Given the description of an element on the screen output the (x, y) to click on. 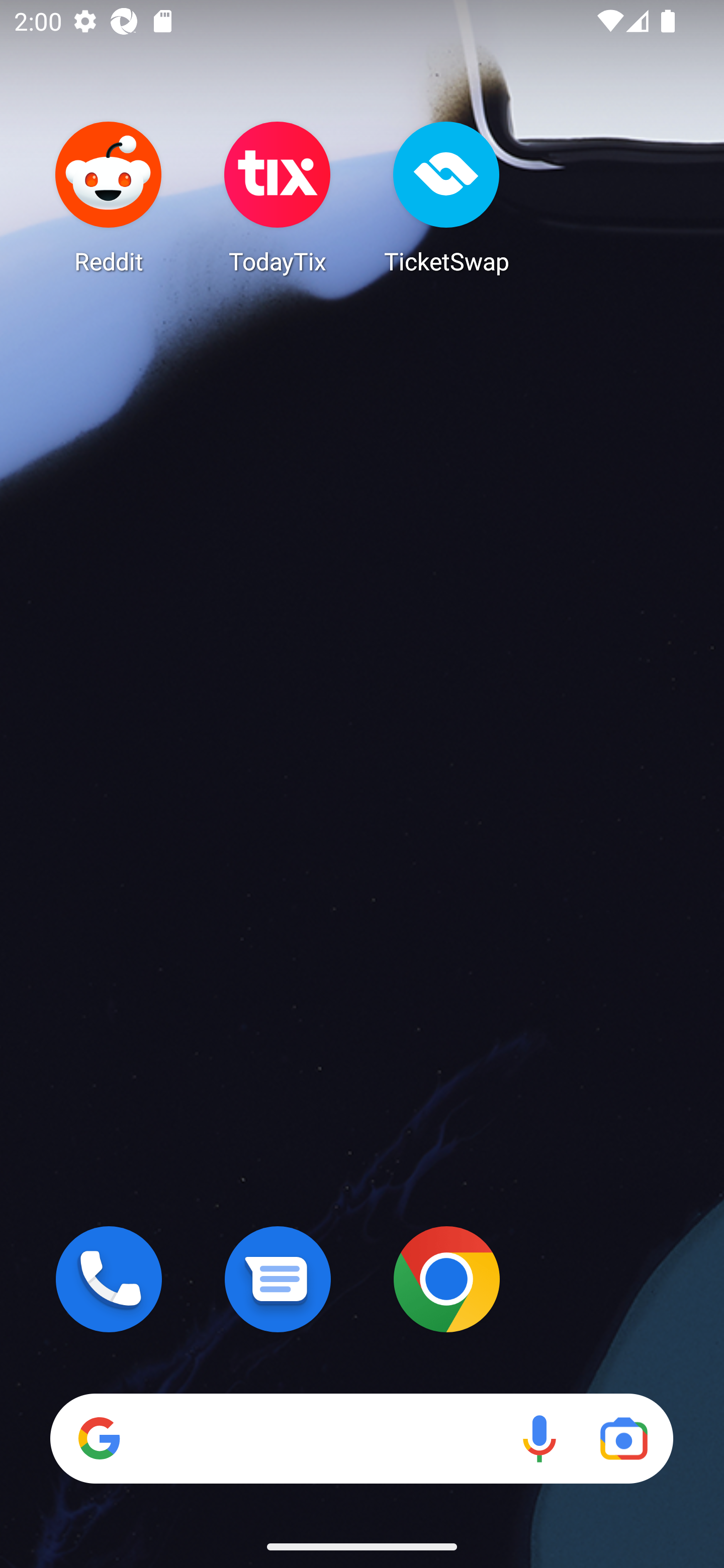
Reddit (108, 196)
TodayTix (277, 196)
TicketSwap (445, 196)
Phone (108, 1279)
Messages (277, 1279)
Chrome (446, 1279)
Voice search (539, 1438)
Google Lens (623, 1438)
